Given the description of an element on the screen output the (x, y) to click on. 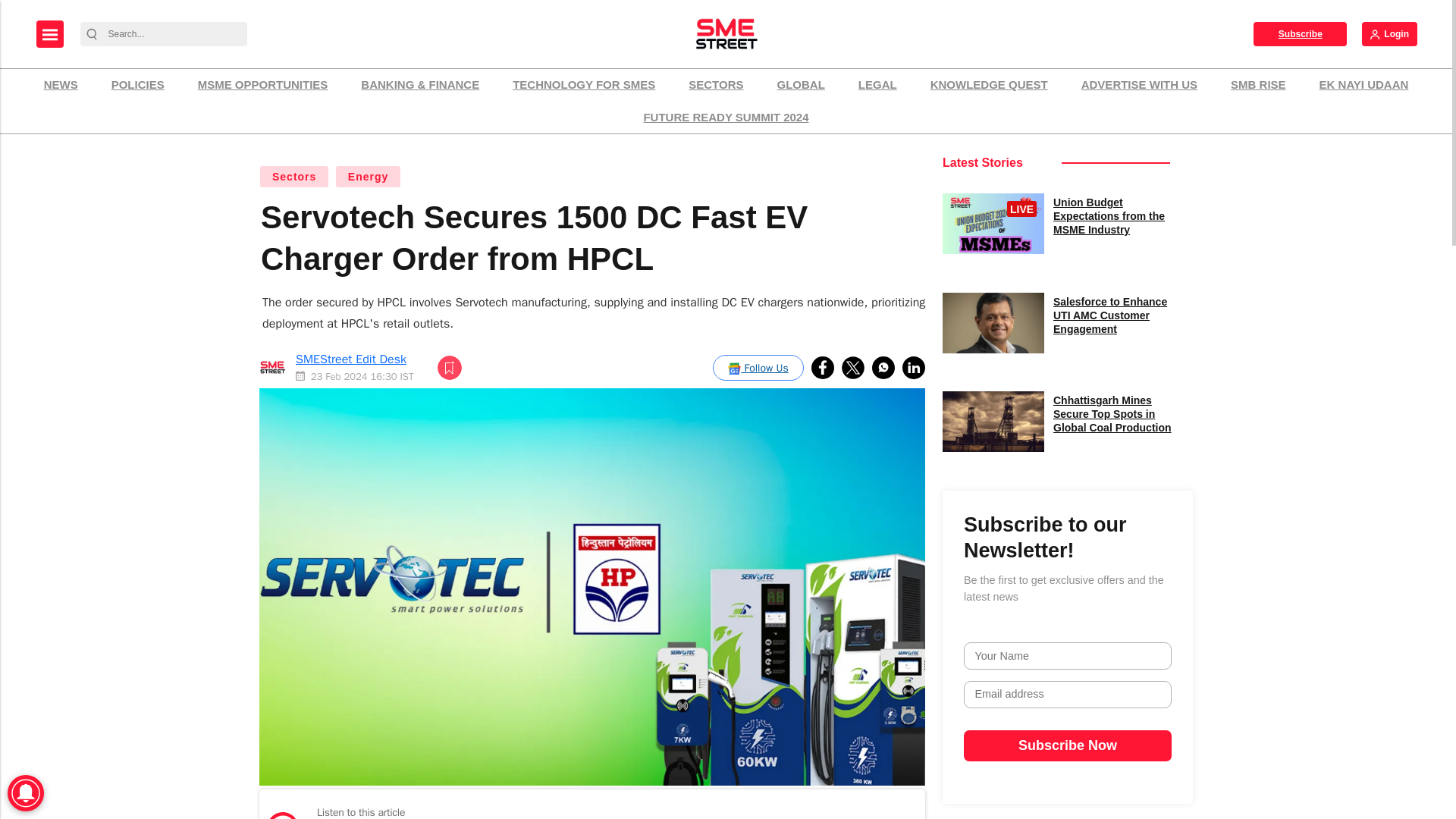
FUTURE READY SUMMIT 2024 (725, 117)
KNOWLEDGE QUEST (988, 84)
Subscribe (1299, 33)
SMEStreet Edit Desk (350, 359)
TECHNOLOGY FOR SMES (583, 84)
GLOBAL (800, 84)
Login (1388, 33)
POLICIES (138, 84)
Energy (367, 176)
SECTORS (715, 84)
Sectors (294, 176)
NEWS (60, 84)
ADVERTISE WITH US (1139, 84)
EK NAYI UDAAN (1364, 84)
MSME OPPORTUNITIES (262, 84)
